Given the description of an element on the screen output the (x, y) to click on. 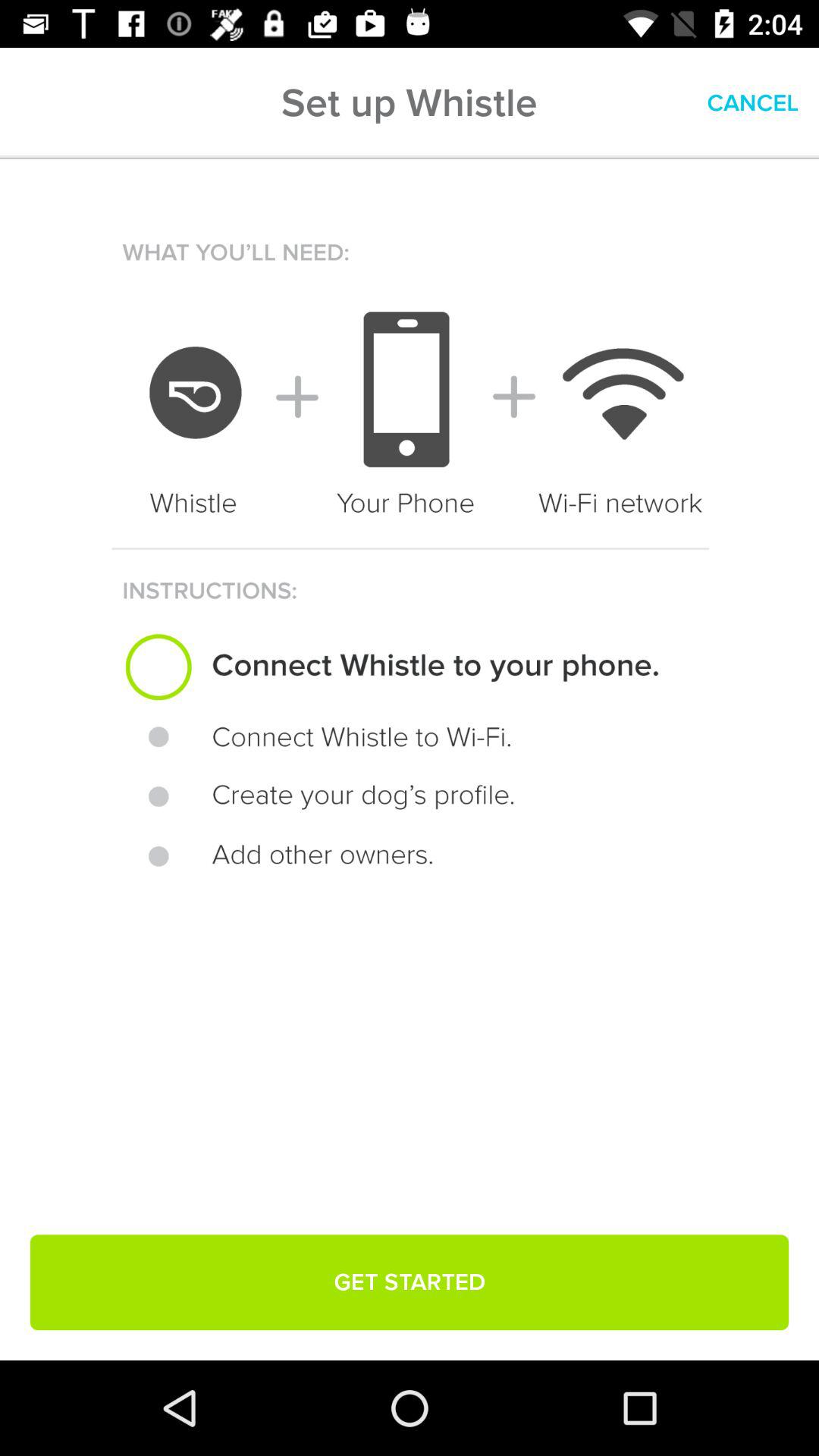
turn off cancel item (753, 103)
